Given the description of an element on the screen output the (x, y) to click on. 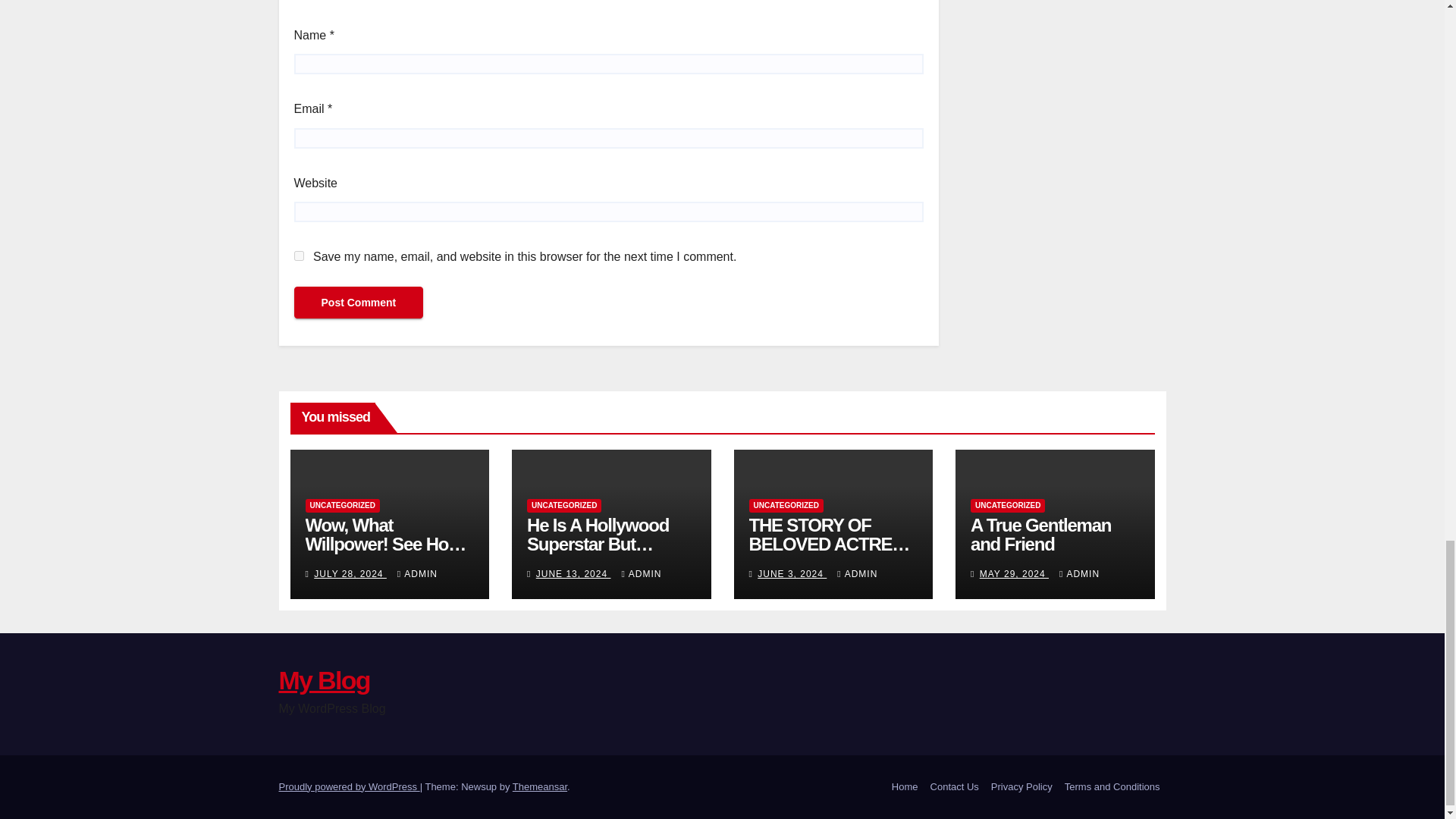
Permalink to: THE STORY OF BELOVED ACTRESS JAMIE LEE CURTIS (831, 544)
Post Comment (358, 302)
Home (904, 786)
Post Comment (358, 302)
Permalink to: A True Gentleman and Friend (1040, 534)
yes (299, 255)
